Given the description of an element on the screen output the (x, y) to click on. 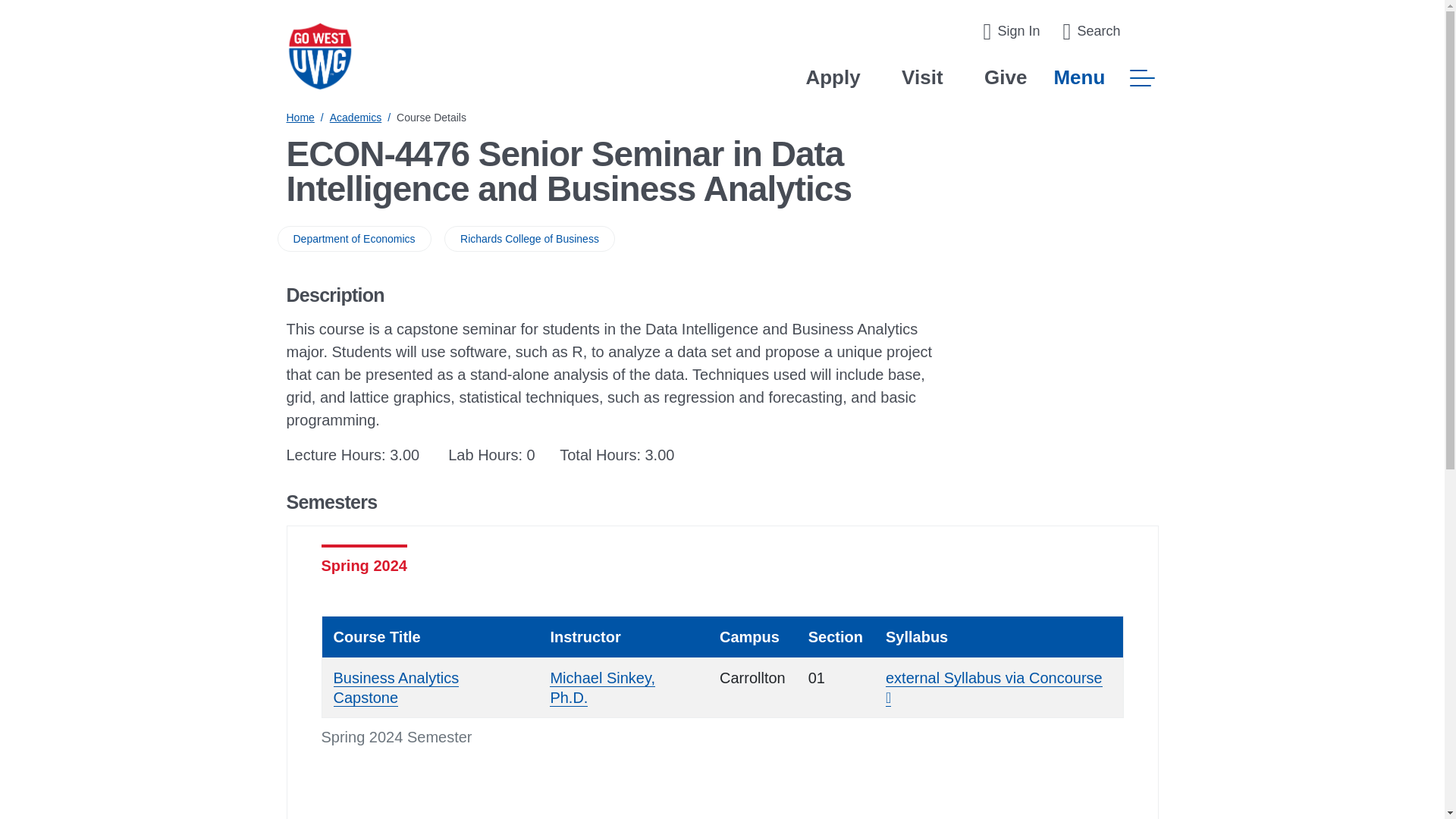
View Profile for Michael Sinkey, Ph.D. (602, 687)
Link to Richards College of Business (529, 238)
Home (300, 117)
Give (1005, 77)
Search (1090, 32)
View syllabus via Concourse (993, 687)
Visit (921, 77)
Sign In (1010, 32)
Menu (1104, 77)
Apply (832, 77)
